Given the description of an element on the screen output the (x, y) to click on. 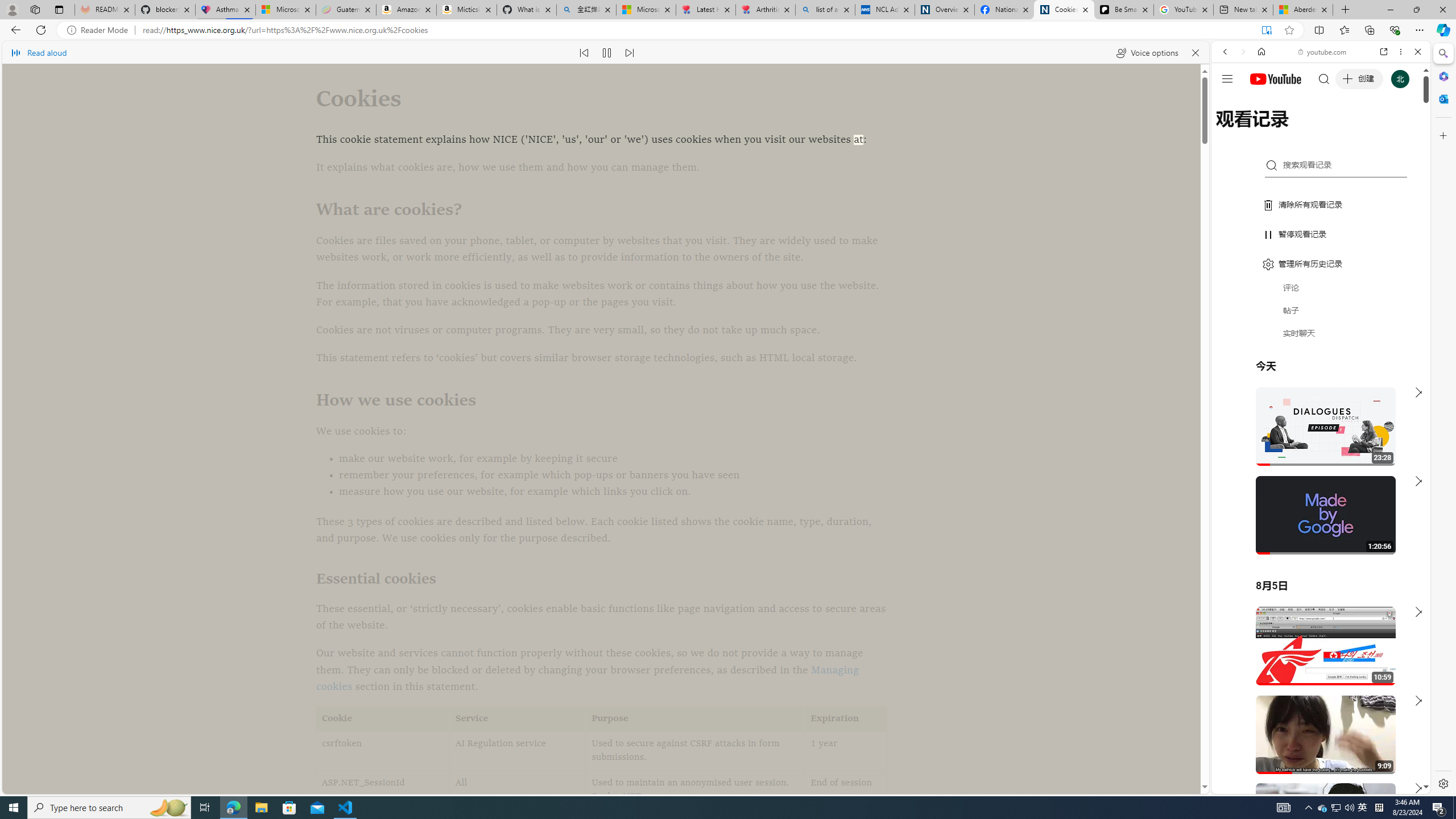
Trailer #2 [HD] (1320, 336)
Used to secure against CSRF attacks in form submissions. (695, 751)
Music (1320, 309)
Search videos from youtube.com (1299, 373)
Click to scroll right (1407, 456)
